Given the description of an element on the screen output the (x, y) to click on. 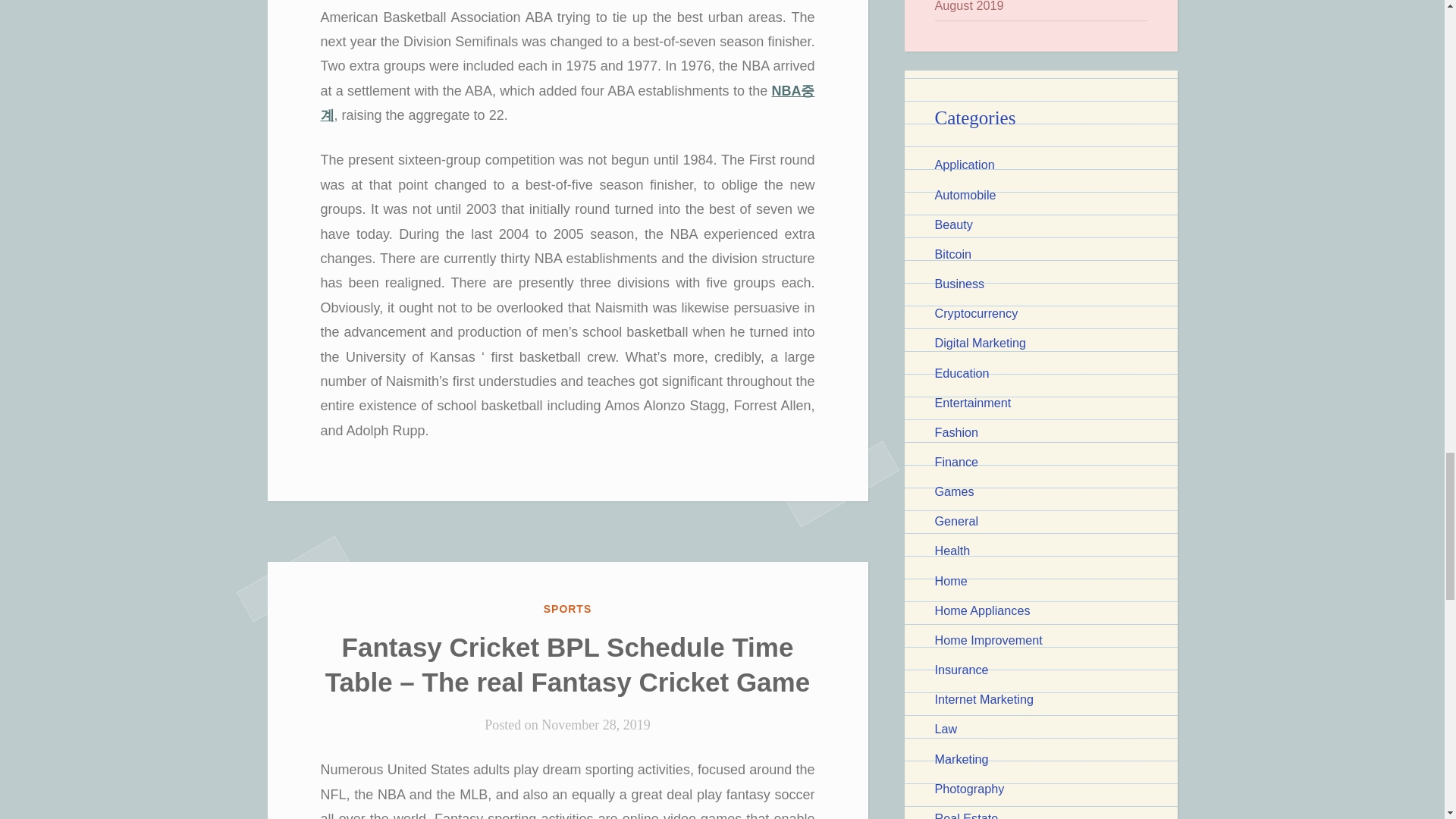
November 28, 2019 (595, 724)
SPORTS (567, 608)
